Given the description of an element on the screen output the (x, y) to click on. 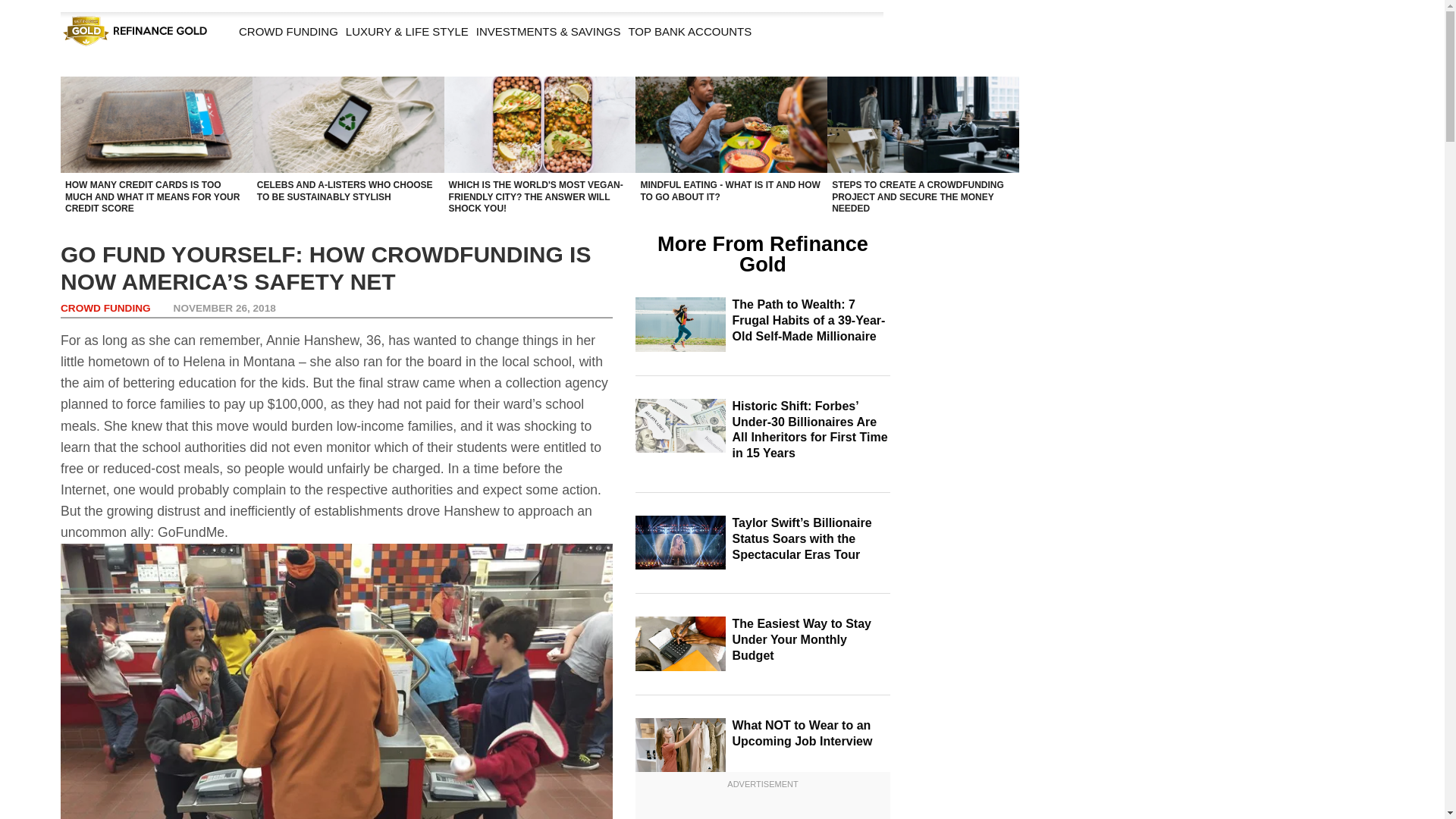
CROWD FUNDING (288, 31)
CROWD FUNDING (106, 307)
MINDFUL EATING - WHAT IS IT AND HOW TO GO ABOUT IT? (730, 124)
TOP BANK ACCOUNTS (689, 31)
CELEBS AND A-LISTERS WHO CHOOSE TO BE SUSTAINABLY STYLISH (347, 124)
